Given the description of an element on the screen output the (x, y) to click on. 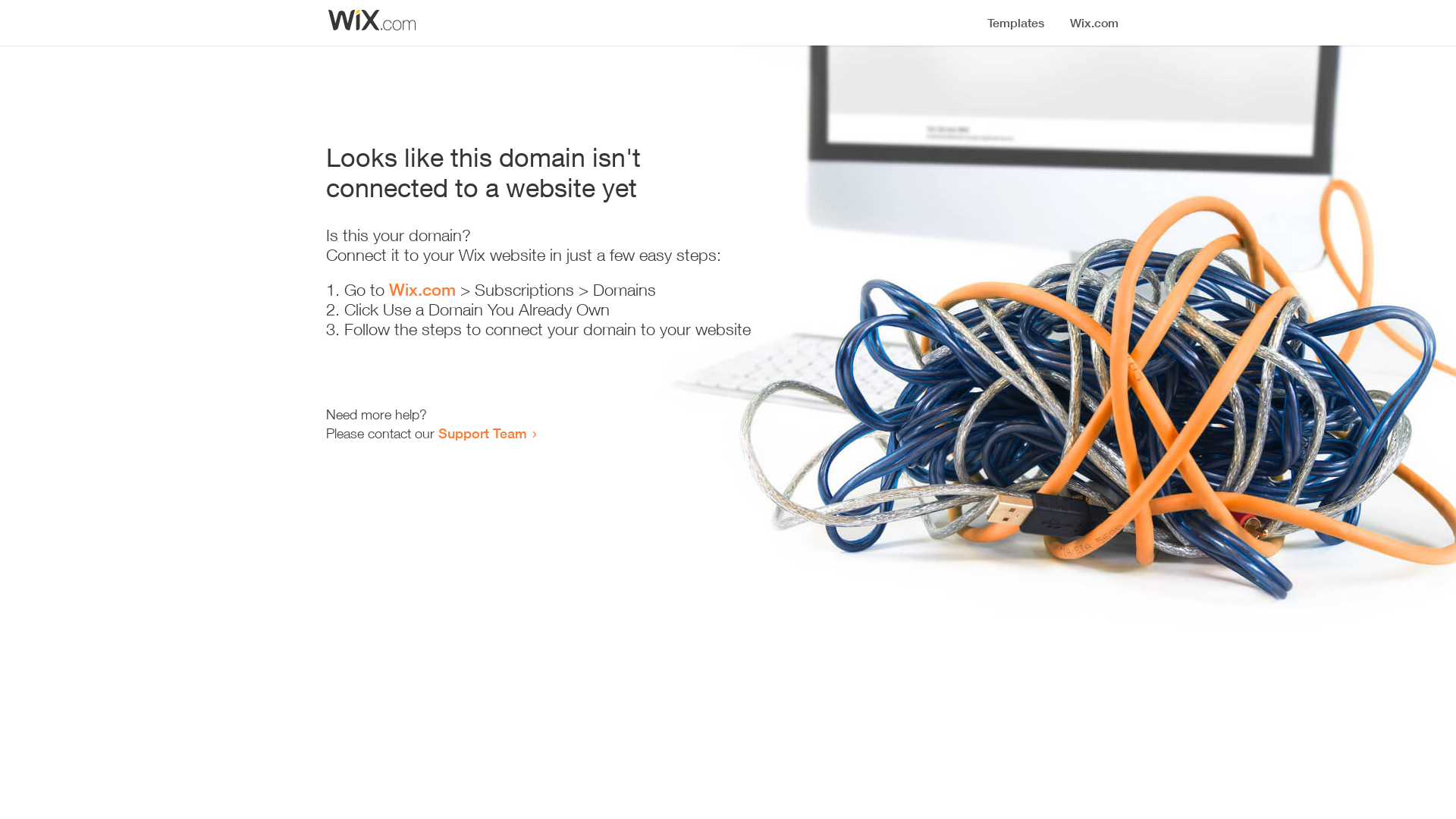
Wix.com Element type: text (422, 289)
Support Team Element type: text (482, 432)
